Given the description of an element on the screen output the (x, y) to click on. 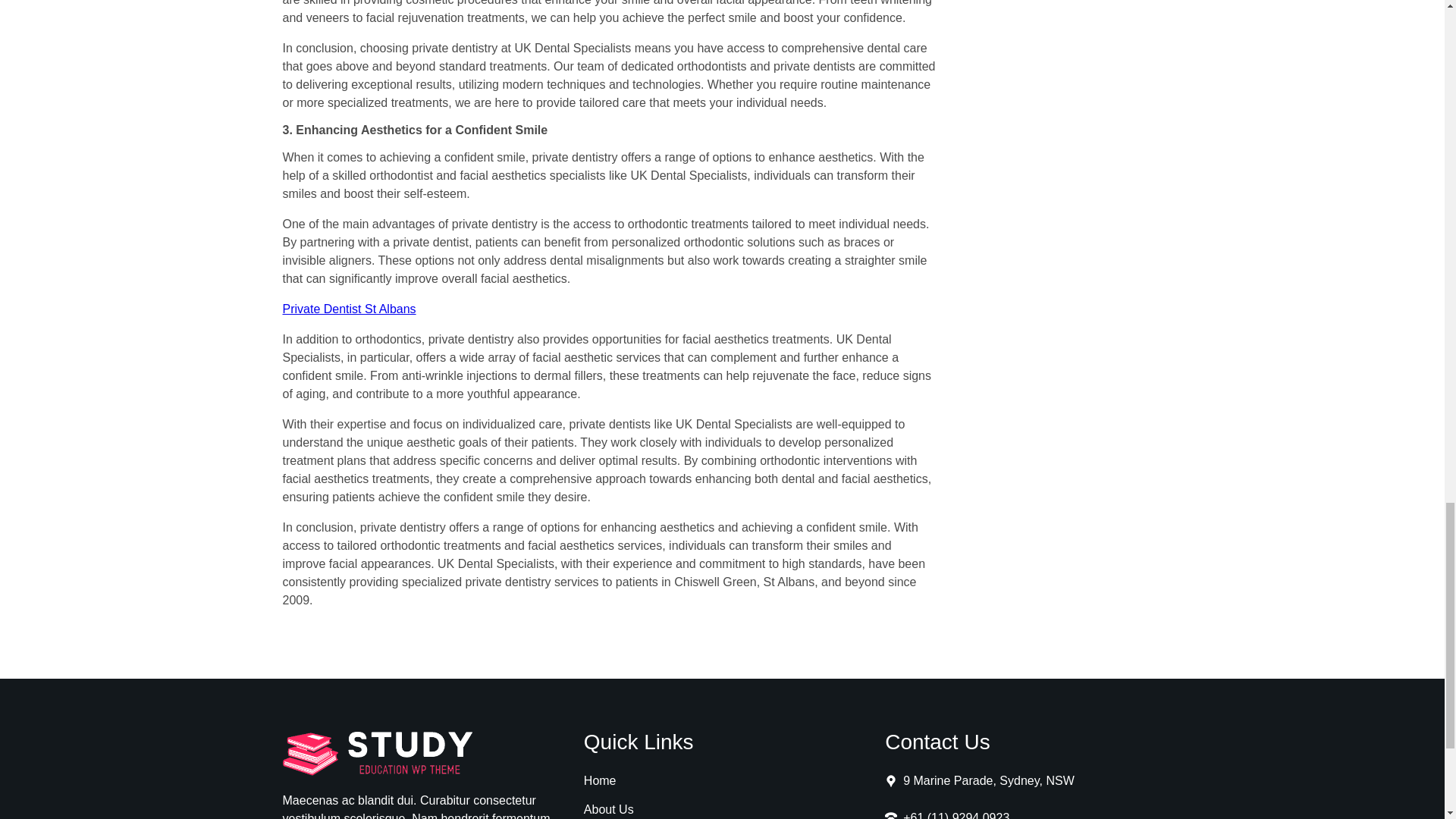
Private Dentist St Albans (348, 308)
